Given the description of an element on the screen output the (x, y) to click on. 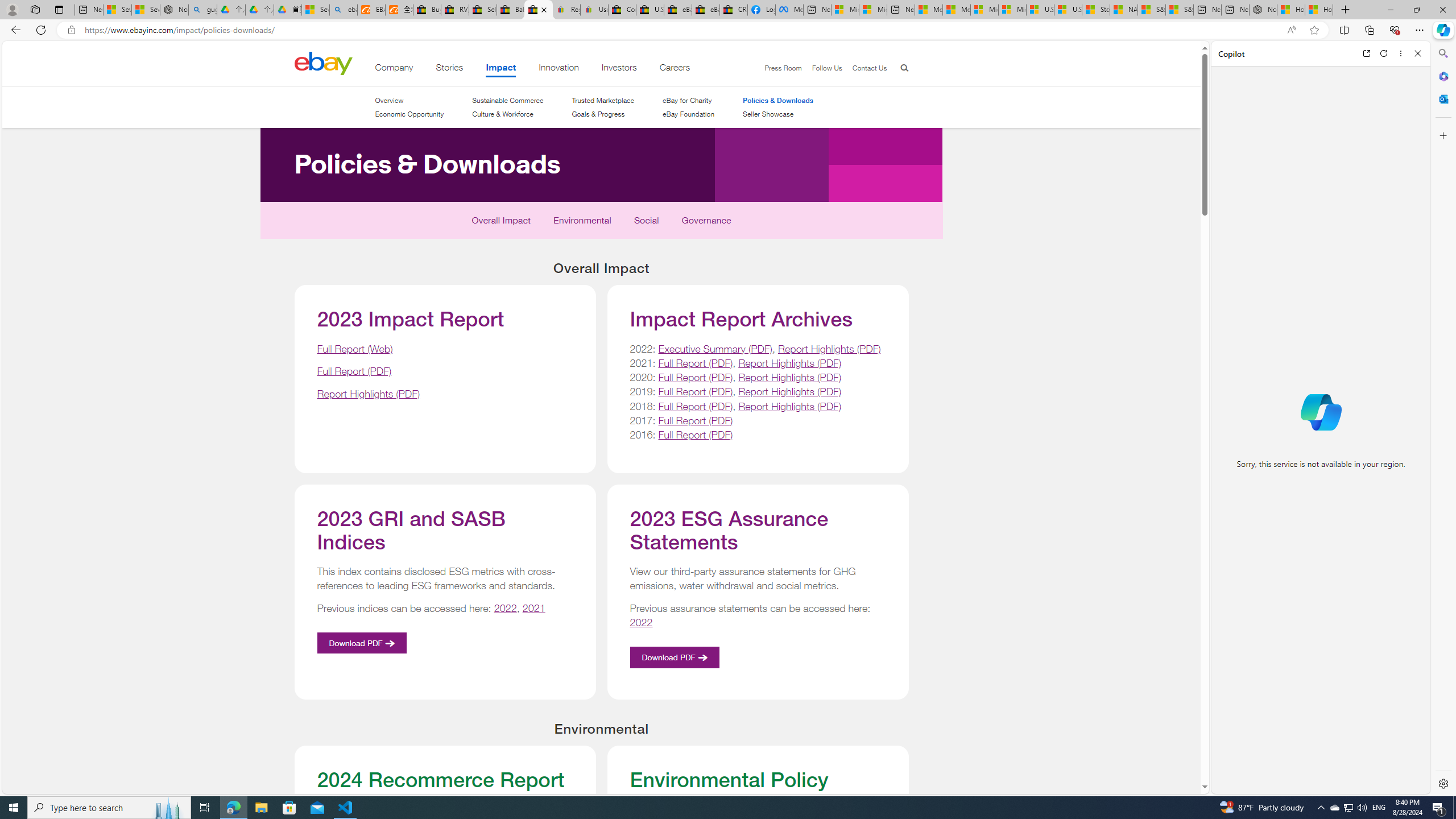
Microsoft 365 (1442, 76)
Customize (1442, 135)
S&P 500, Nasdaq end lower, weighed by Nvidia dip | Watch (1179, 9)
guge yunpan - Search (202, 9)
Side bar (1443, 418)
Home (323, 63)
Sell worldwide with eBay (483, 9)
Baby Keepsakes & Announcements for sale | eBay (510, 9)
Investors (619, 69)
